Given the description of an element on the screen output the (x, y) to click on. 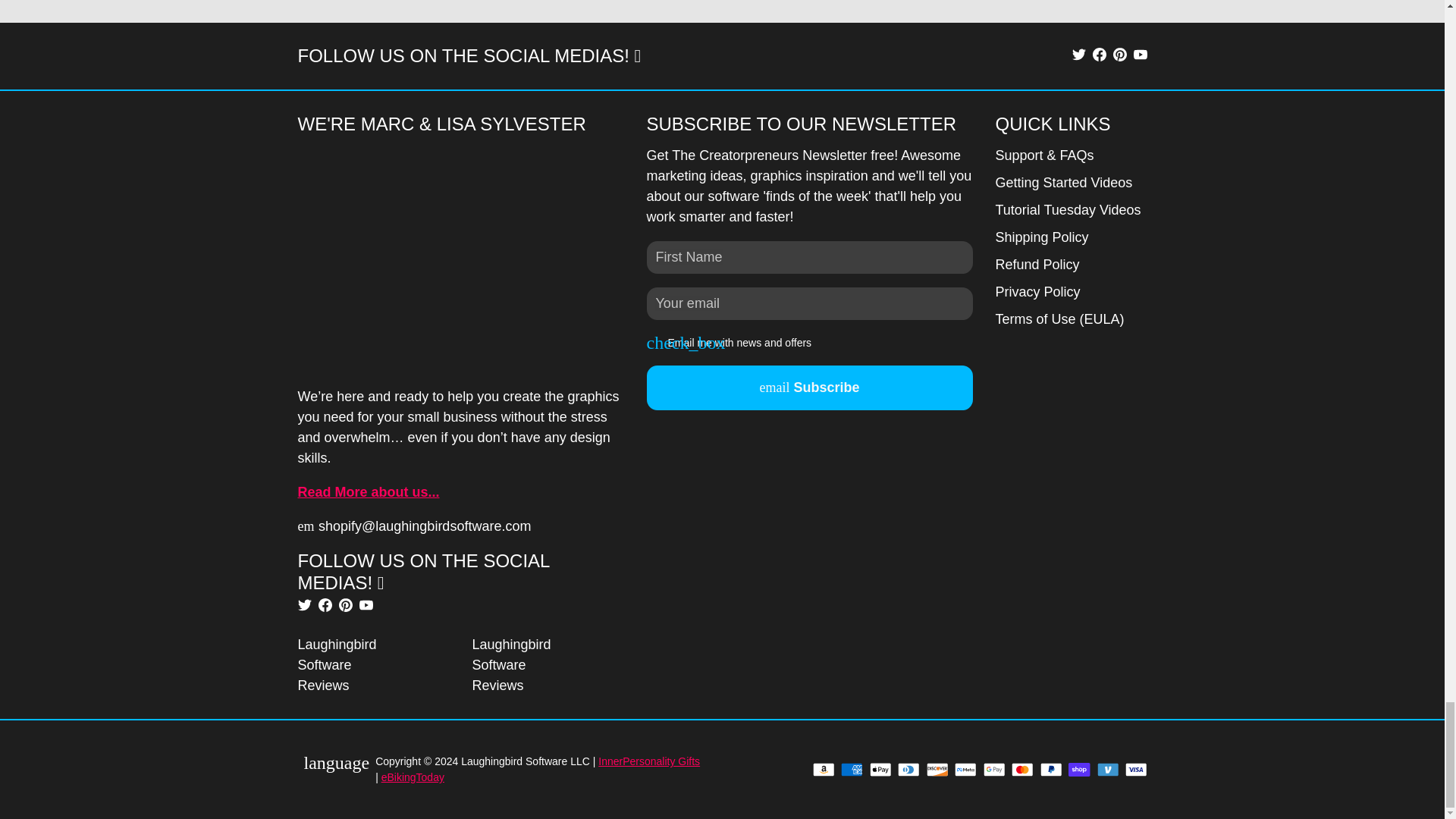
Discover (936, 769)
Google Pay (993, 769)
Diners Club (909, 769)
American Express (851, 769)
Amazon (823, 769)
Apple Pay (880, 769)
Meta Pay (965, 769)
Mastercard (1022, 769)
